Given the description of an element on the screen output the (x, y) to click on. 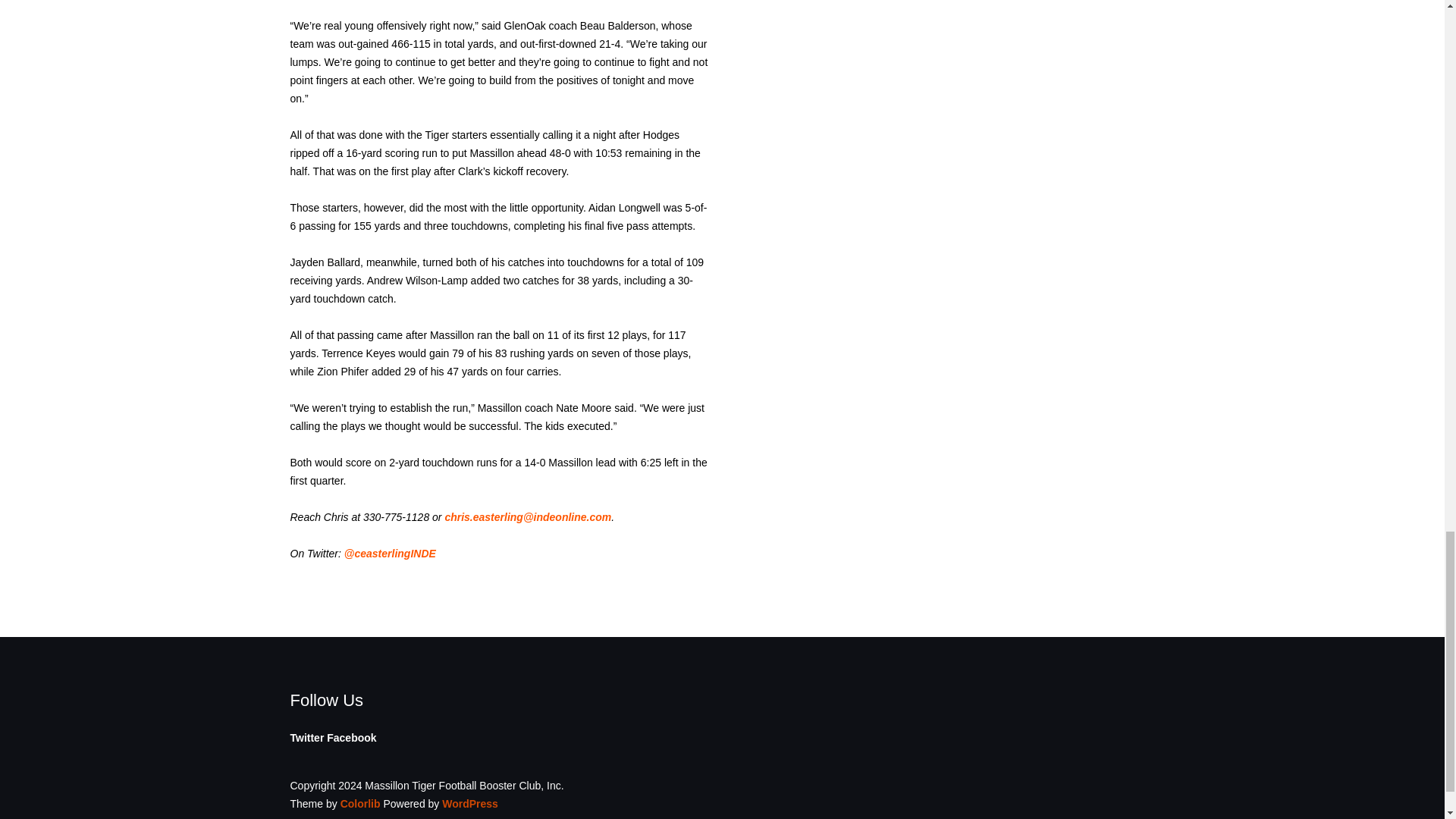
Twitter (306, 737)
WordPress.org (469, 803)
Colorlib (360, 803)
Facebook (350, 737)
WordPress (469, 803)
Colorlib (360, 803)
